Given the description of an element on the screen output the (x, y) to click on. 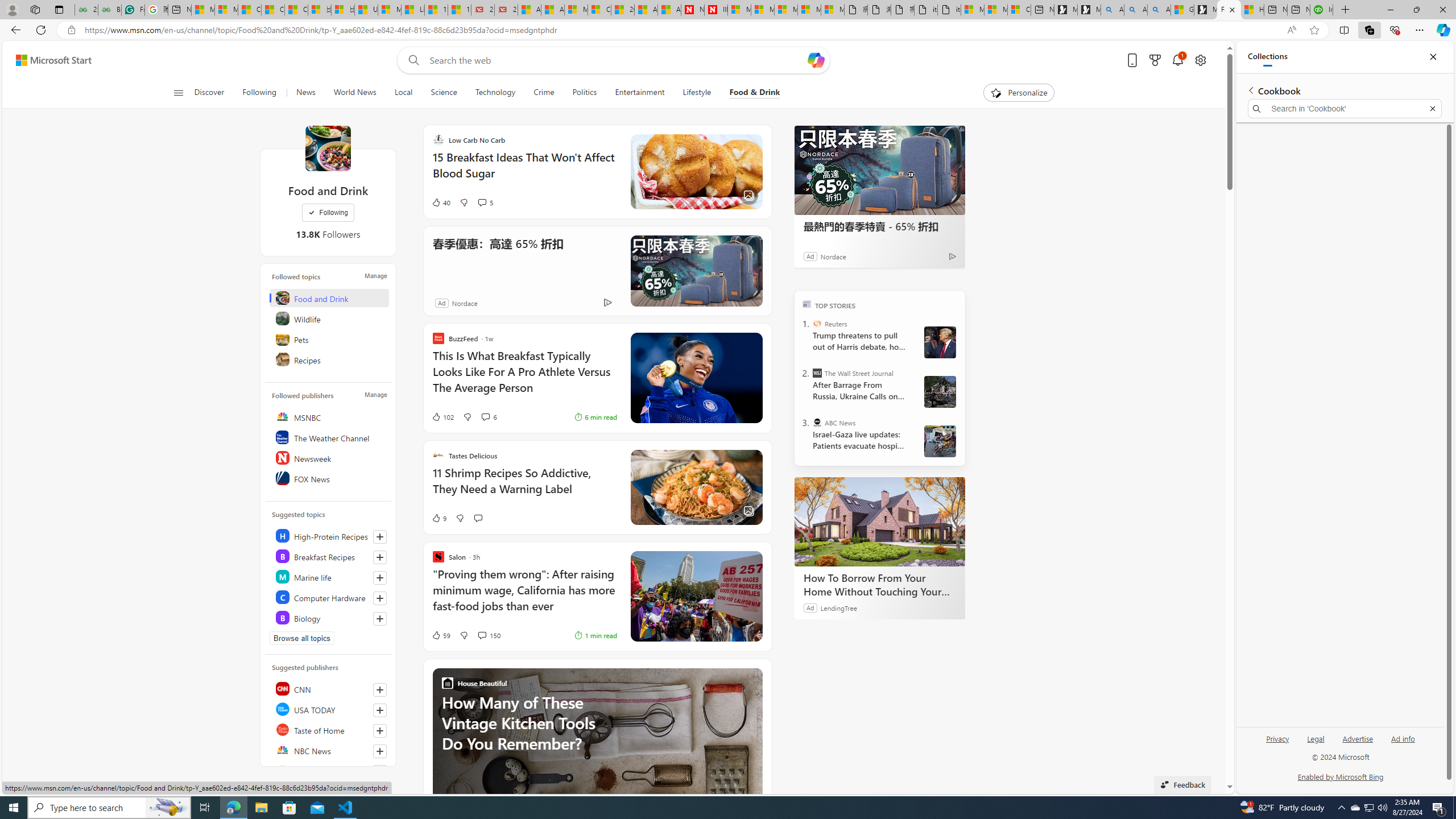
FOX News (328, 478)
Illness news & latest pictures from Newsweek.com (715, 9)
Back to list of collections (1250, 90)
